Given the description of an element on the screen output the (x, y) to click on. 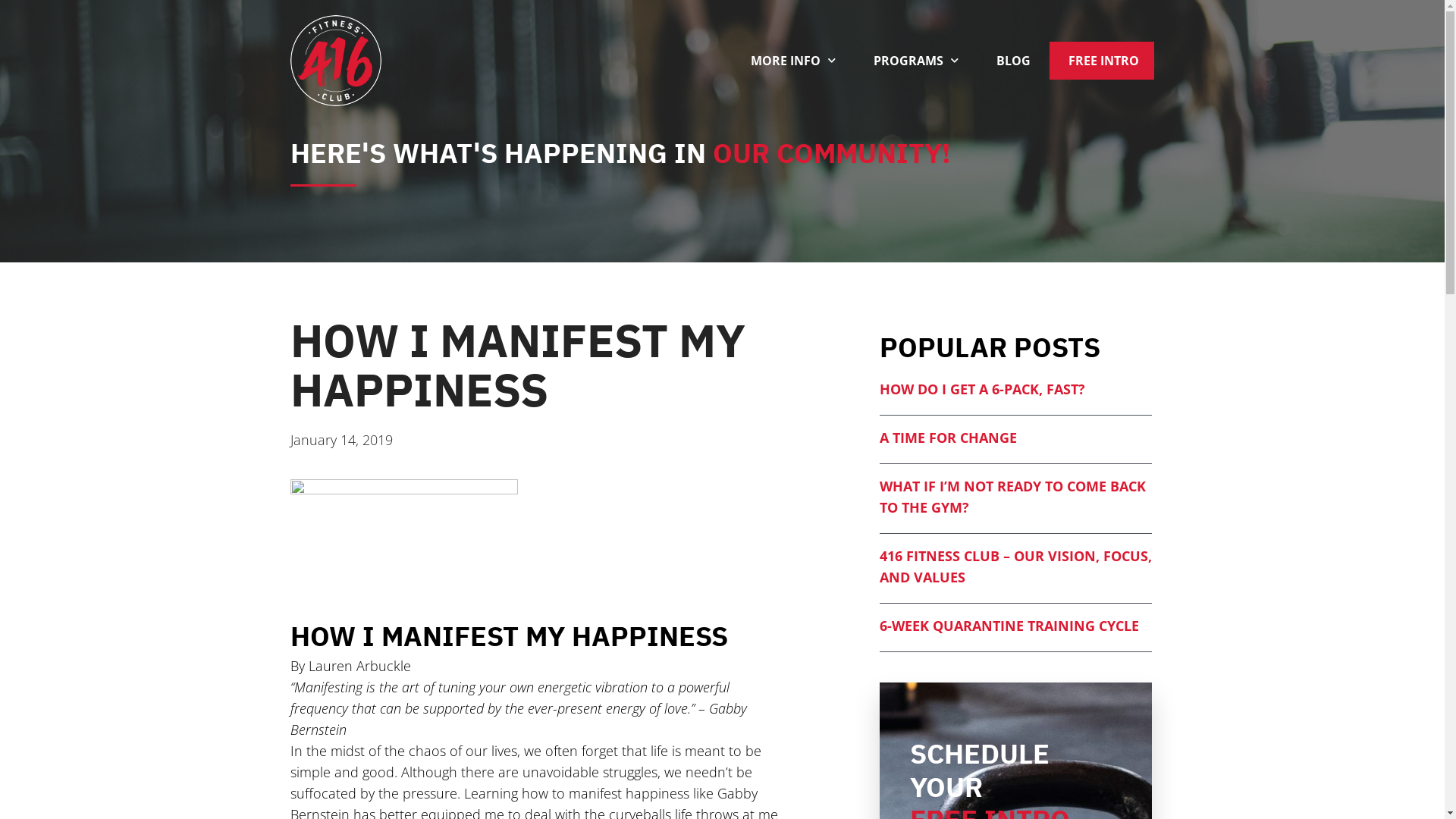
PROGRAMS Element type: text (915, 60)
BLOG Element type: text (1013, 60)
6-WEEK QUARANTINE TRAINING CYCLE Element type: text (1009, 625)
MORE INFO Element type: text (792, 60)
416 Element type: hover (334, 60)
FREE INTRO Element type: text (1103, 60)
A TIME FOR CHANGE Element type: text (947, 437)
HOW DO I GET A 6-PACK, FAST? Element type: text (982, 388)
